Given the description of an element on the screen output the (x, y) to click on. 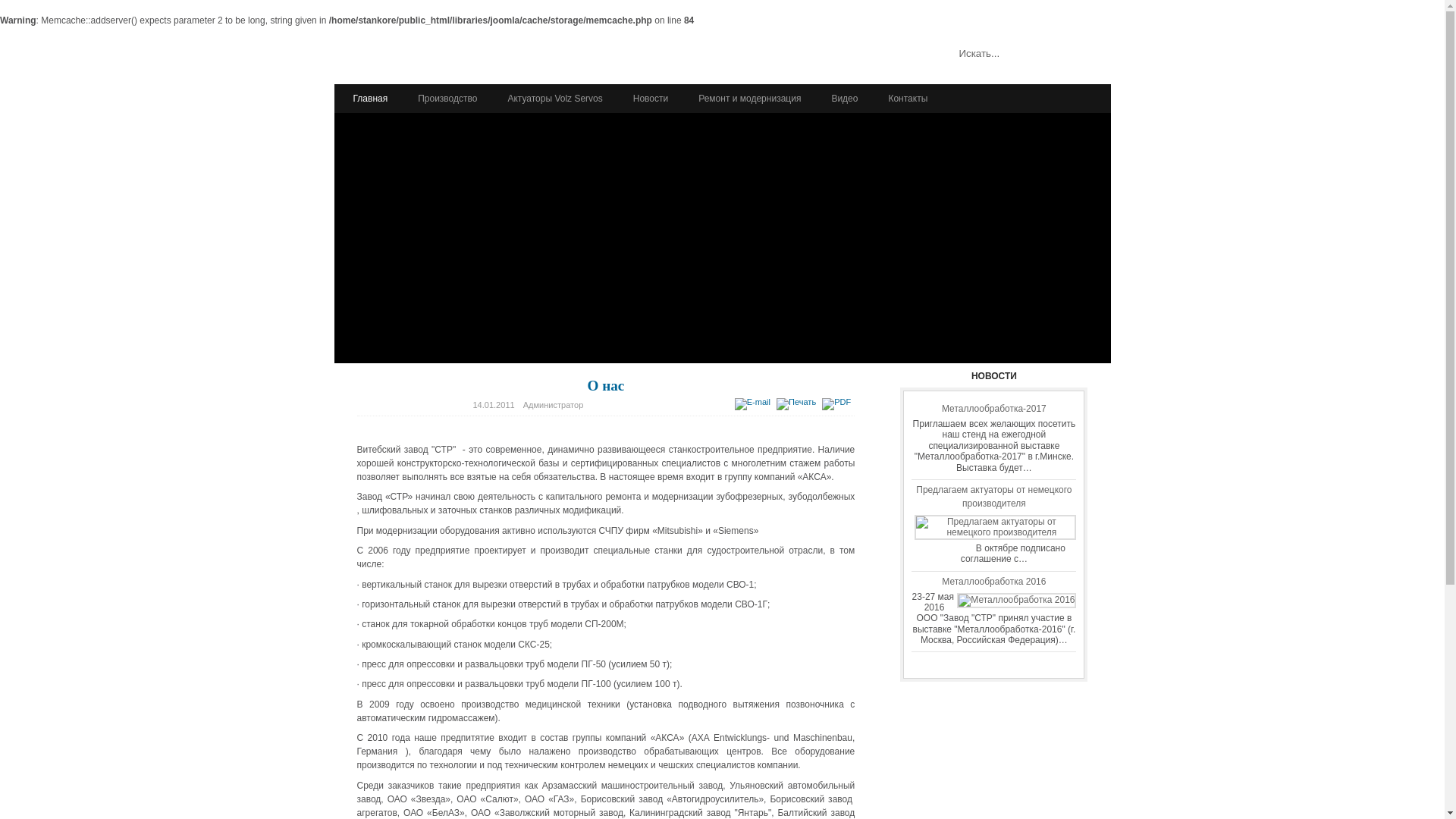
PDF Element type: hover (838, 401)
R Element type: text (1085, 99)
E-mail Element type: hover (754, 401)
A- Element type: text (1097, 99)
A+ Element type: text (1074, 99)
